Given the description of an element on the screen output the (x, y) to click on. 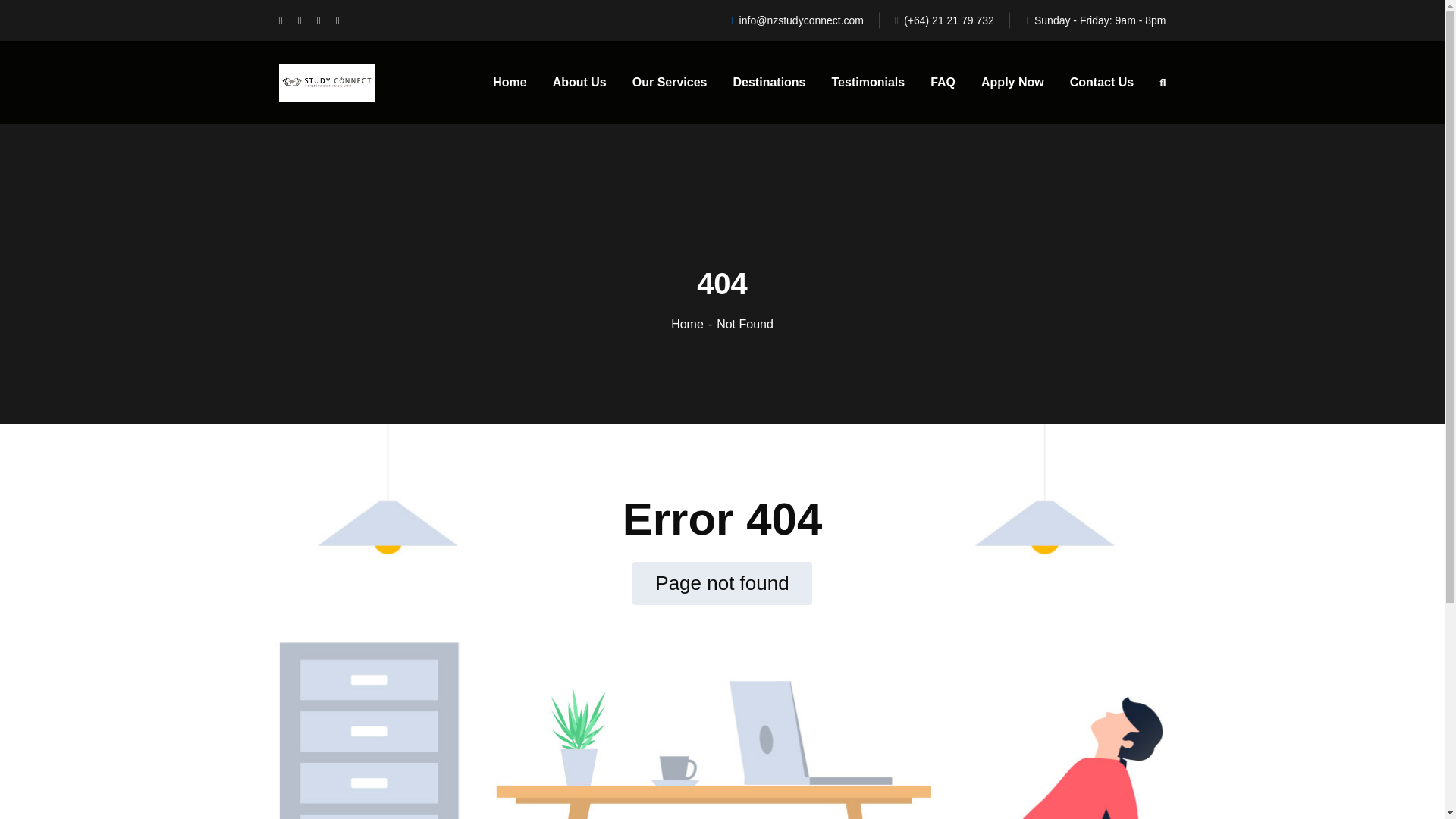
Our Services (528, 659)
Apply Now (525, 723)
FAQ (624, 691)
Testimonials (527, 691)
Home (693, 323)
EBRANDING (871, 795)
Home (513, 627)
Destinations (640, 659)
Contact Us (638, 723)
About Us (634, 627)
